Given the description of an element on the screen output the (x, y) to click on. 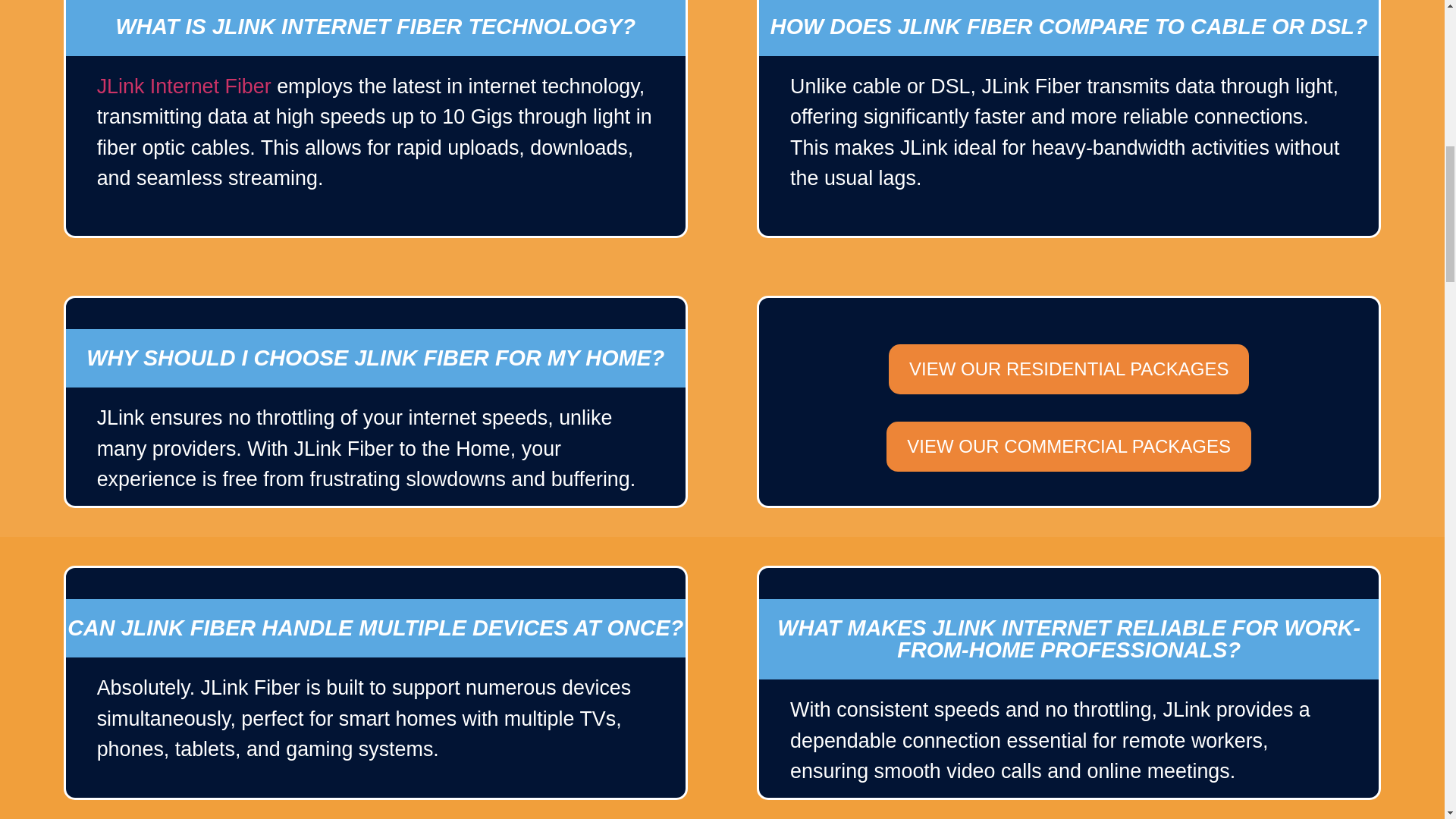
VIEW OUR COMMERCIAL PACKAGES (1068, 446)
JLink Internet Fiber (183, 86)
VIEW OUR RESIDENTIAL PACKAGES (1068, 368)
